Given the description of an element on the screen output the (x, y) to click on. 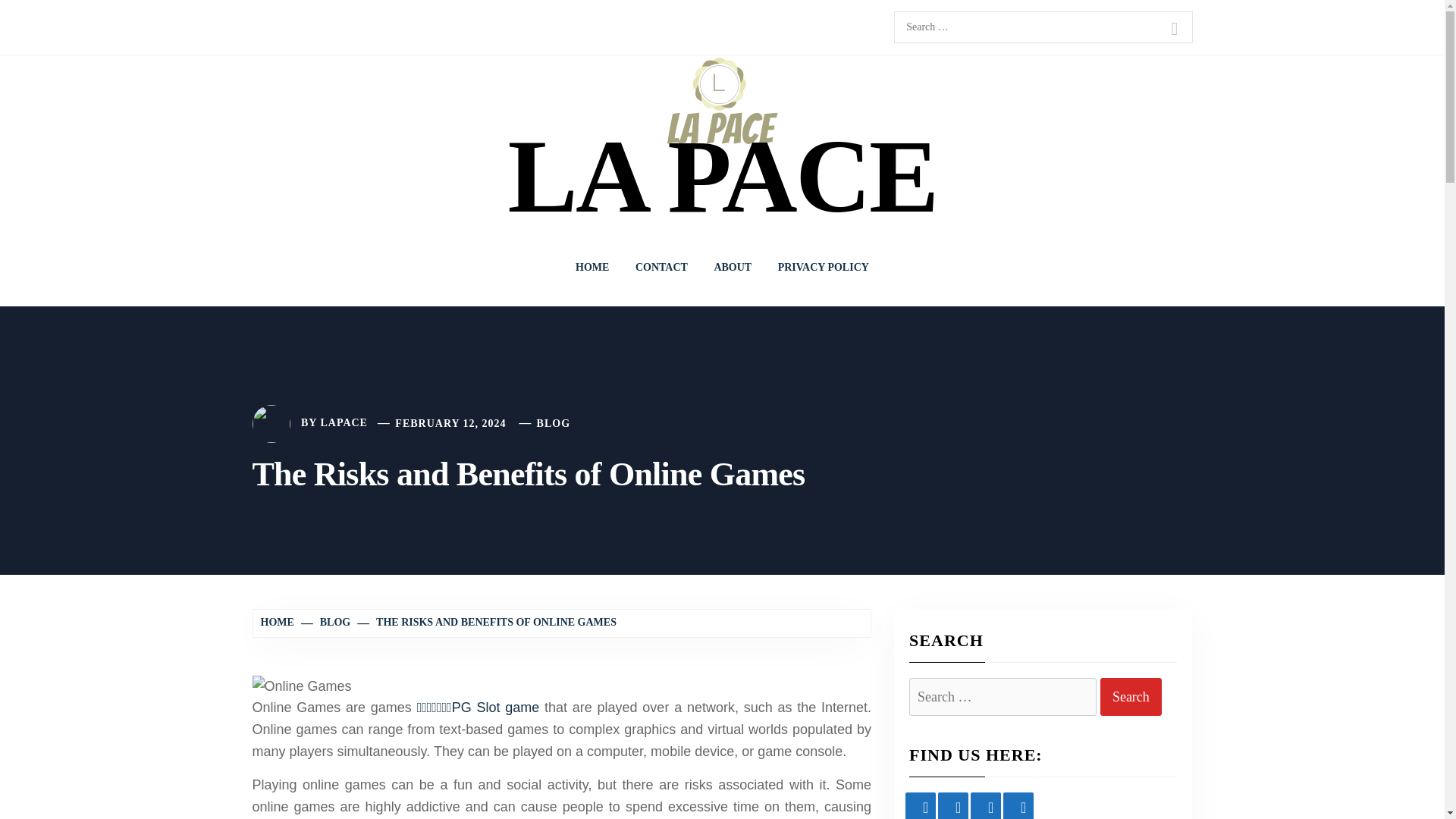
Search (1174, 28)
HOME (279, 622)
LAPACE (344, 423)
ABOUT (731, 267)
Search (1174, 28)
HOME (592, 267)
Search (1130, 697)
FEBRUARY 12, 2024 (449, 423)
Search (1130, 697)
BLOG (326, 622)
BLOG (553, 423)
YouTube (952, 805)
Search (1174, 28)
Facebook (920, 805)
Search (1130, 697)
